Given the description of an element on the screen output the (x, y) to click on. 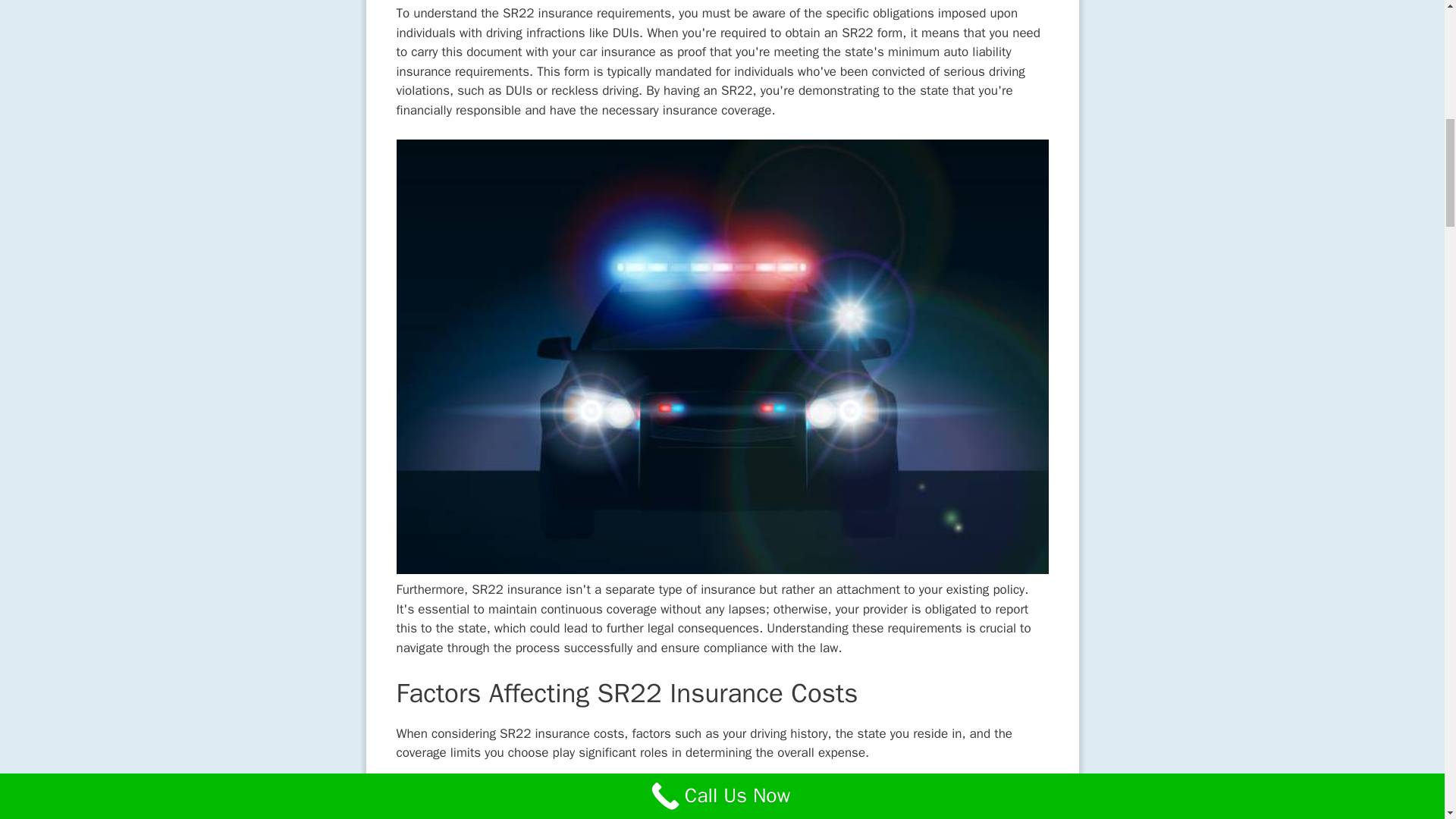
Scroll back to top (1406, 720)
